Given the description of an element on the screen output the (x, y) to click on. 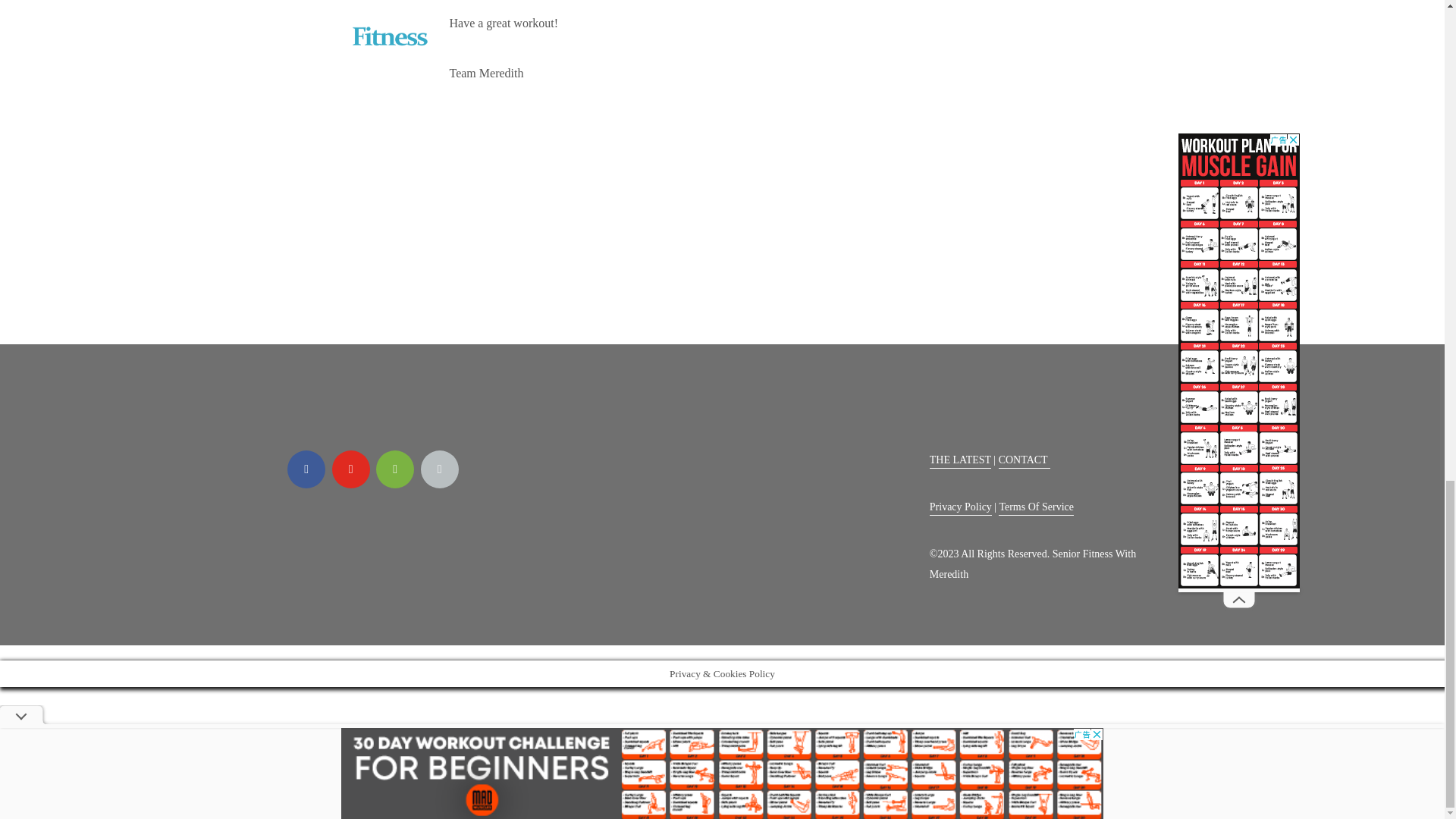
Facebook (305, 469)
Spotify (394, 469)
spotify (394, 469)
CONTACT  (1023, 461)
THE LATEST (960, 461)
YouTube (350, 469)
Apple (439, 469)
youtube (350, 469)
Terms Of Service (1036, 508)
facebook (305, 469)
